Given the description of an element on the screen output the (x, y) to click on. 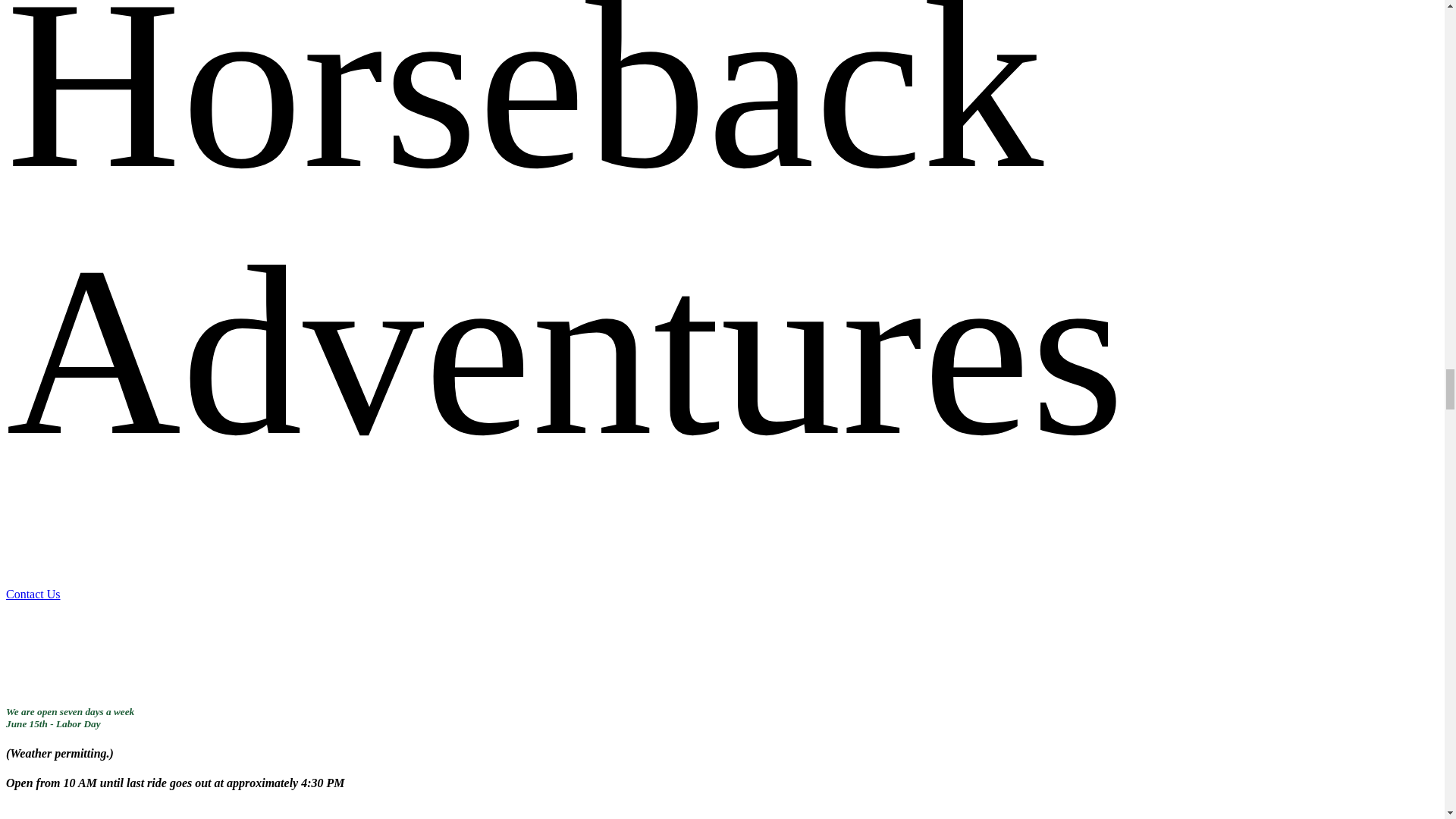
Contact Us (146, 594)
